Given the description of an element on the screen output the (x, y) to click on. 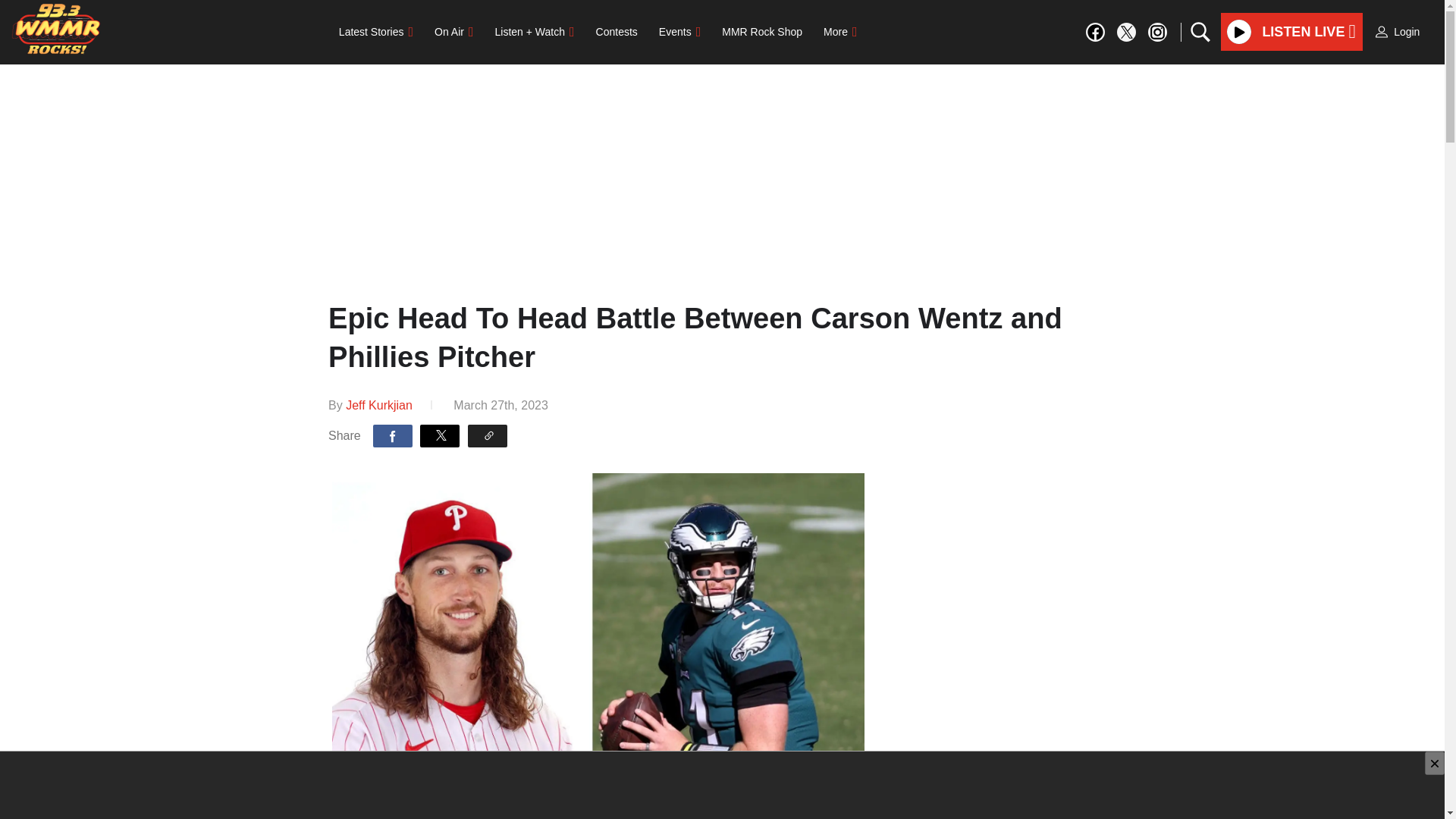
Latest Stories (376, 31)
Close AdCheckmark indicating ad close (1434, 763)
Jeff Kurkjian (379, 404)
On Air (453, 31)
